Given the description of an element on the screen output the (x, y) to click on. 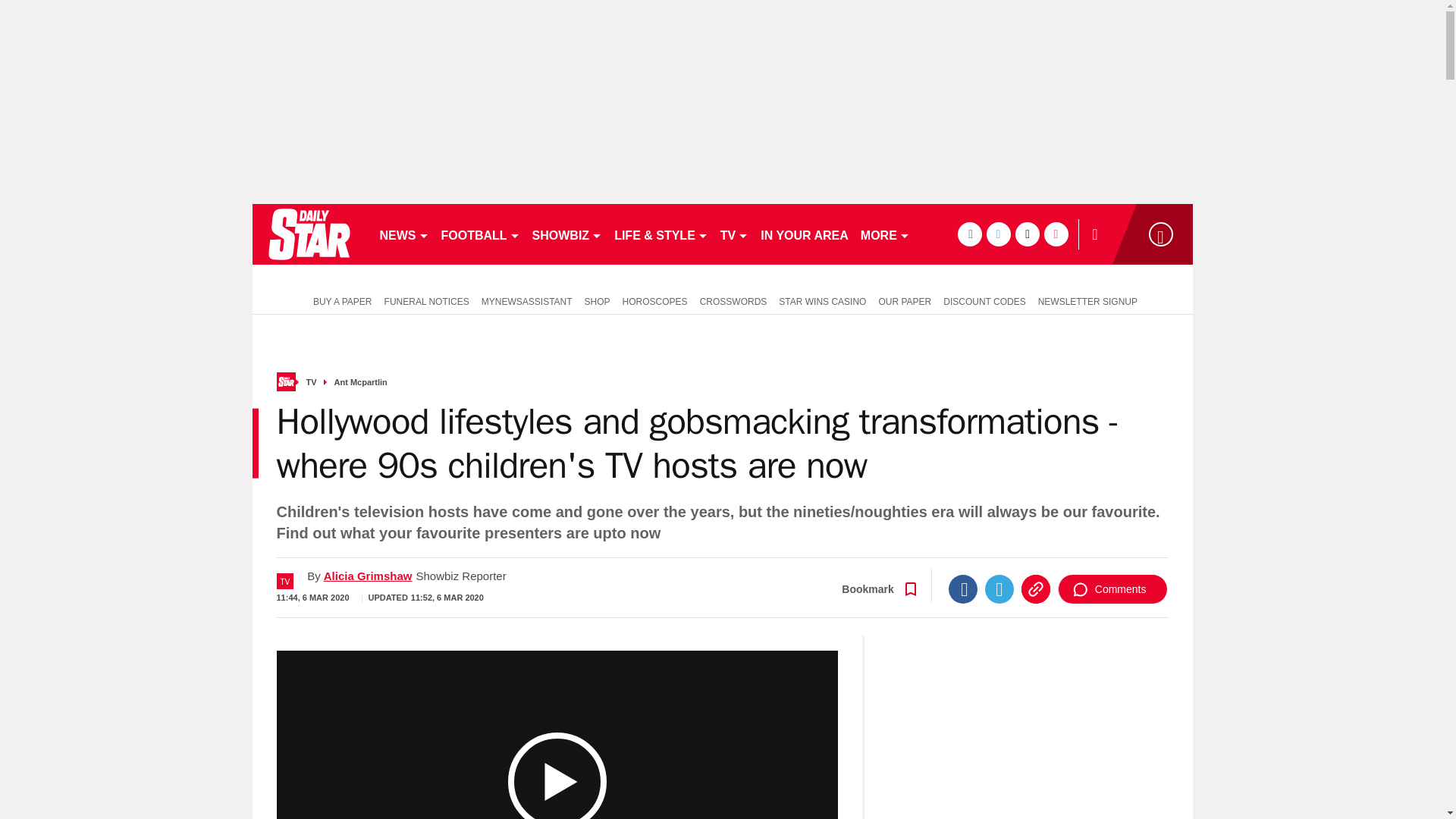
dailystar (308, 233)
NEWS (402, 233)
tiktok (1026, 233)
facebook (968, 233)
instagram (1055, 233)
Twitter (999, 588)
SHOWBIZ (566, 233)
twitter (997, 233)
Comments (1112, 588)
FOOTBALL (480, 233)
